Given the description of an element on the screen output the (x, y) to click on. 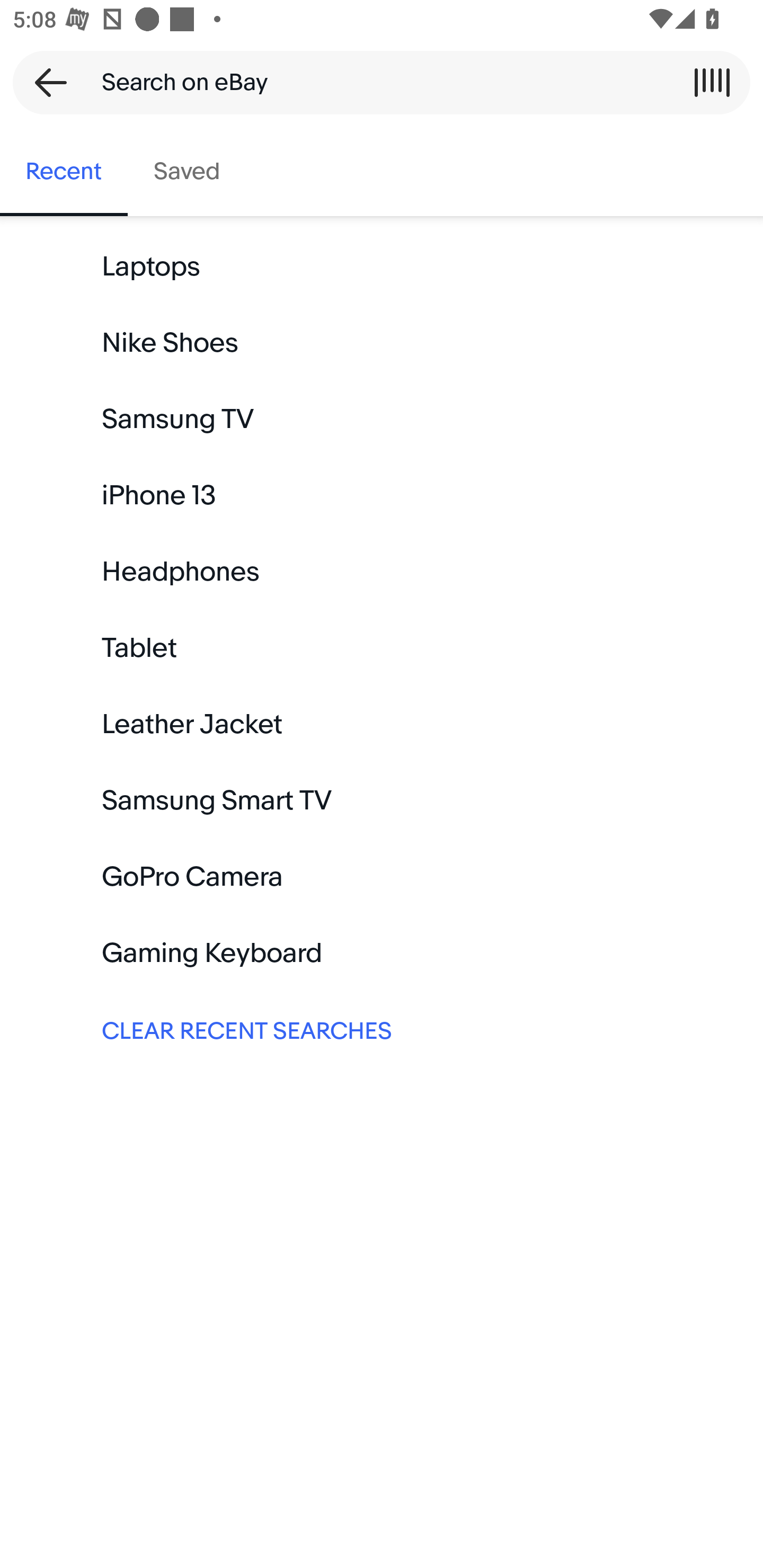
Back (44, 82)
Scan a barcode (711, 82)
Search on eBay (375, 82)
Saved, tab 2 of 2 Saved (186, 171)
Laptops Keyword search Laptops: (381, 266)
Nike Shoes Keyword search Nike Shoes: (381, 343)
Samsung TV Keyword search Samsung TV: (381, 419)
iPhone 13 Keyword search iPhone 13: (381, 495)
Headphones Keyword search Headphones: (381, 571)
Tablet Keyword search Tablet: (381, 647)
Leather Jacket Keyword search Leather Jacket: (381, 724)
Samsung Smart TV Keyword search Samsung Smart TV: (381, 800)
GoPro Camera Keyword search GoPro Camera: (381, 876)
Gaming Keyboard Keyword search Gaming Keyboard: (381, 952)
CLEAR RECENT SEARCHES (381, 1028)
